Given the description of an element on the screen output the (x, y) to click on. 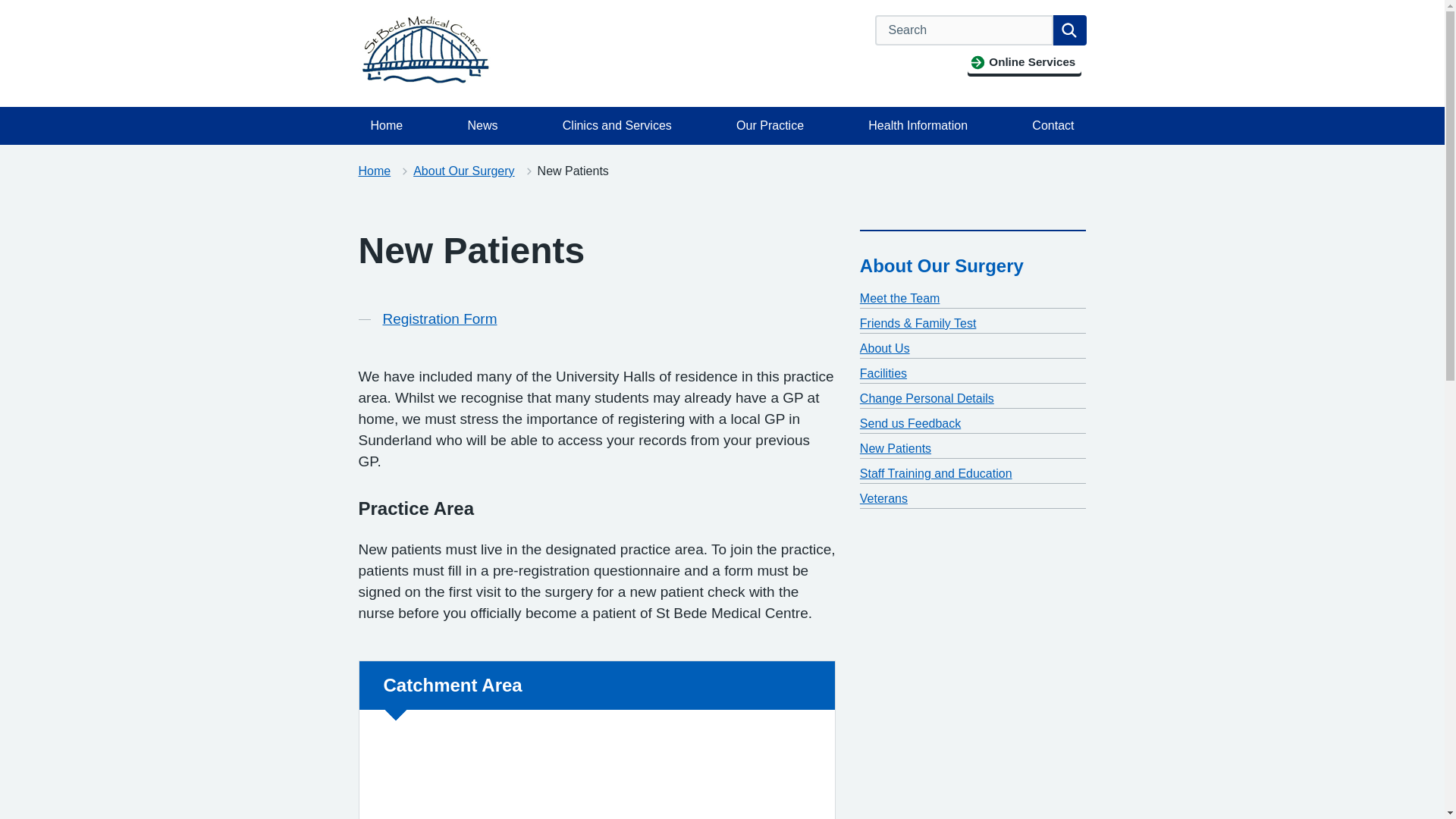
Change Personal Details (927, 398)
Registration Form (438, 319)
Staff Training and Education (935, 472)
News (481, 125)
New Patients (895, 448)
Veterans (883, 498)
Search (1069, 30)
Meet the Team (900, 297)
Facilities (883, 373)
Home (386, 125)
